Given the description of an element on the screen output the (x, y) to click on. 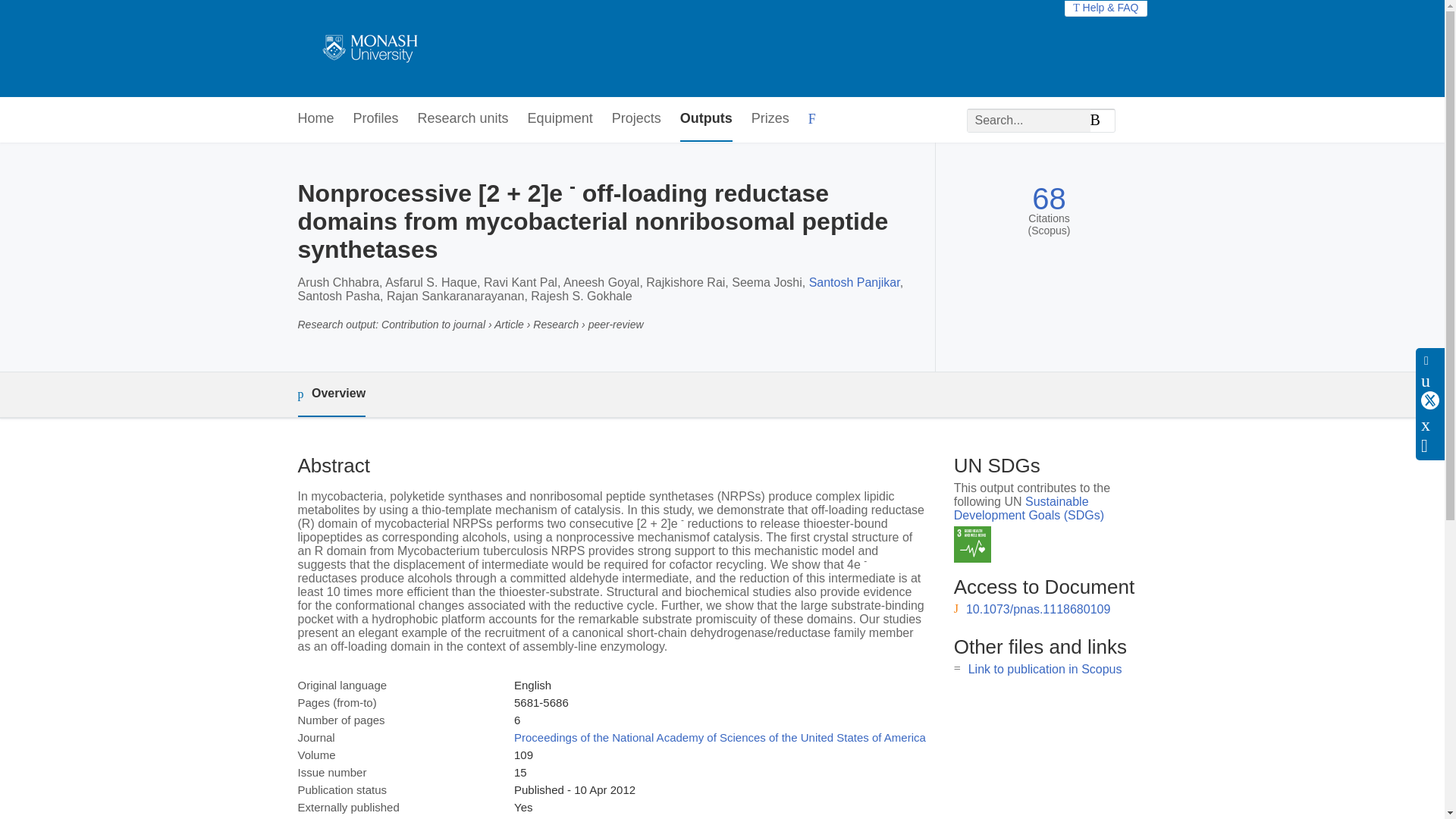
Projects (636, 119)
68 (1048, 198)
Santosh Panjikar (854, 282)
Overview (331, 394)
Profiles (375, 119)
Outputs (705, 119)
Link to publication in Scopus (1045, 668)
SDG 3 - Good Health and Well-being (972, 544)
Research units (462, 119)
Monash University Home (366, 48)
Equipment (559, 119)
